Given the description of an element on the screen output the (x, y) to click on. 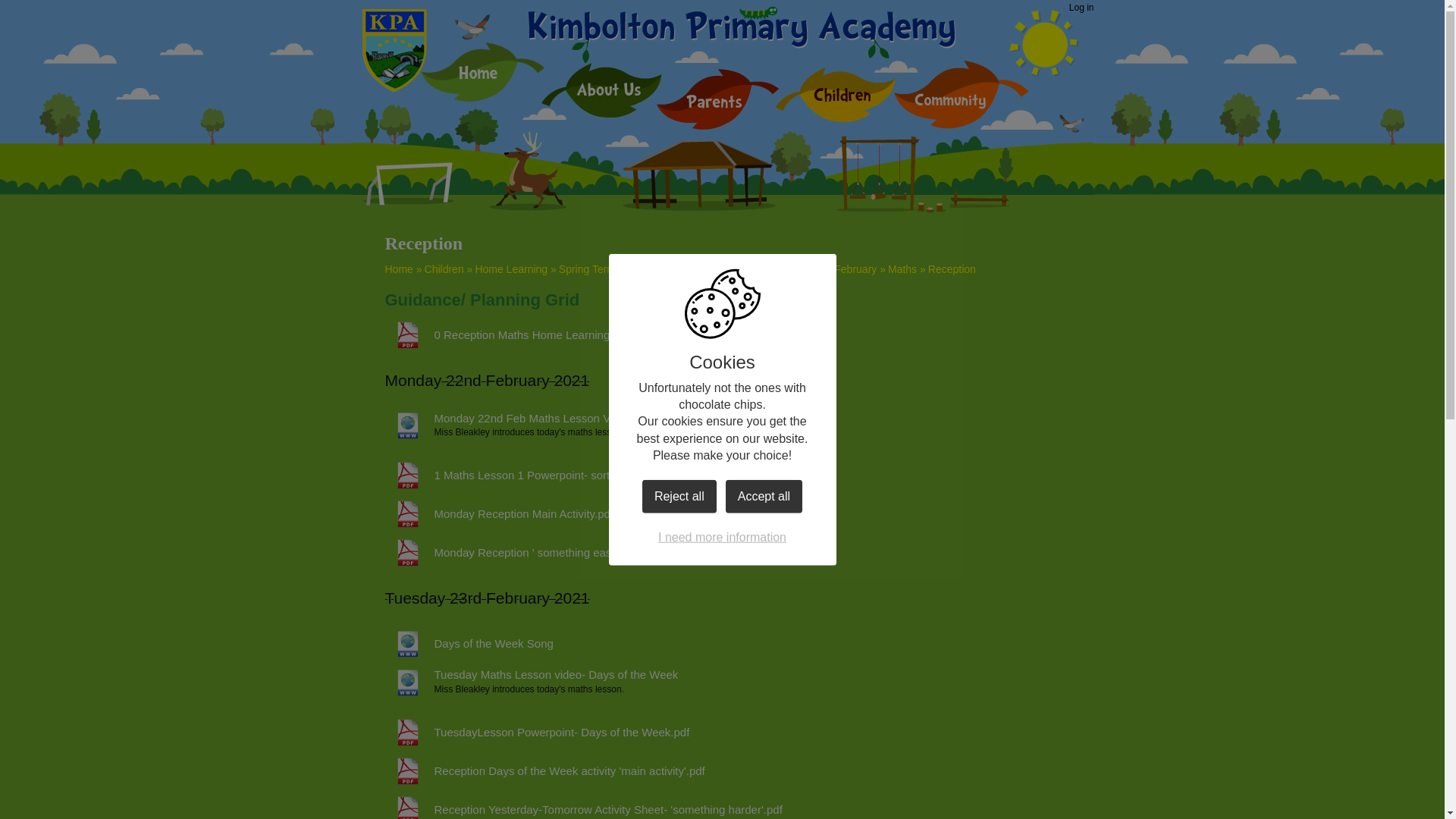
Ash Class (677, 268)
Children (444, 268)
Reception (951, 268)
Days of the Week Song (469, 643)
1 Maths Lesson 1 Powerpoint- sort and order events.pdf (551, 475)
Home (399, 268)
Log in (1081, 8)
Monday 22nd Feb Maths Lesson Video (508, 418)
Monday Reception ' something easier' activity.pdf (533, 552)
About Us (600, 89)
0 Reception Maths Home Learning WB 22.02.21.pdf (541, 334)
Monday Reception Main Activity.pdf (499, 513)
Tuesday Maths Lesson video- Days of the Week (531, 674)
TuesdayLesson Powerpoint- Days of the Week.pdf (537, 732)
Spring Term 2021 (600, 268)
